Given the description of an element on the screen output the (x, y) to click on. 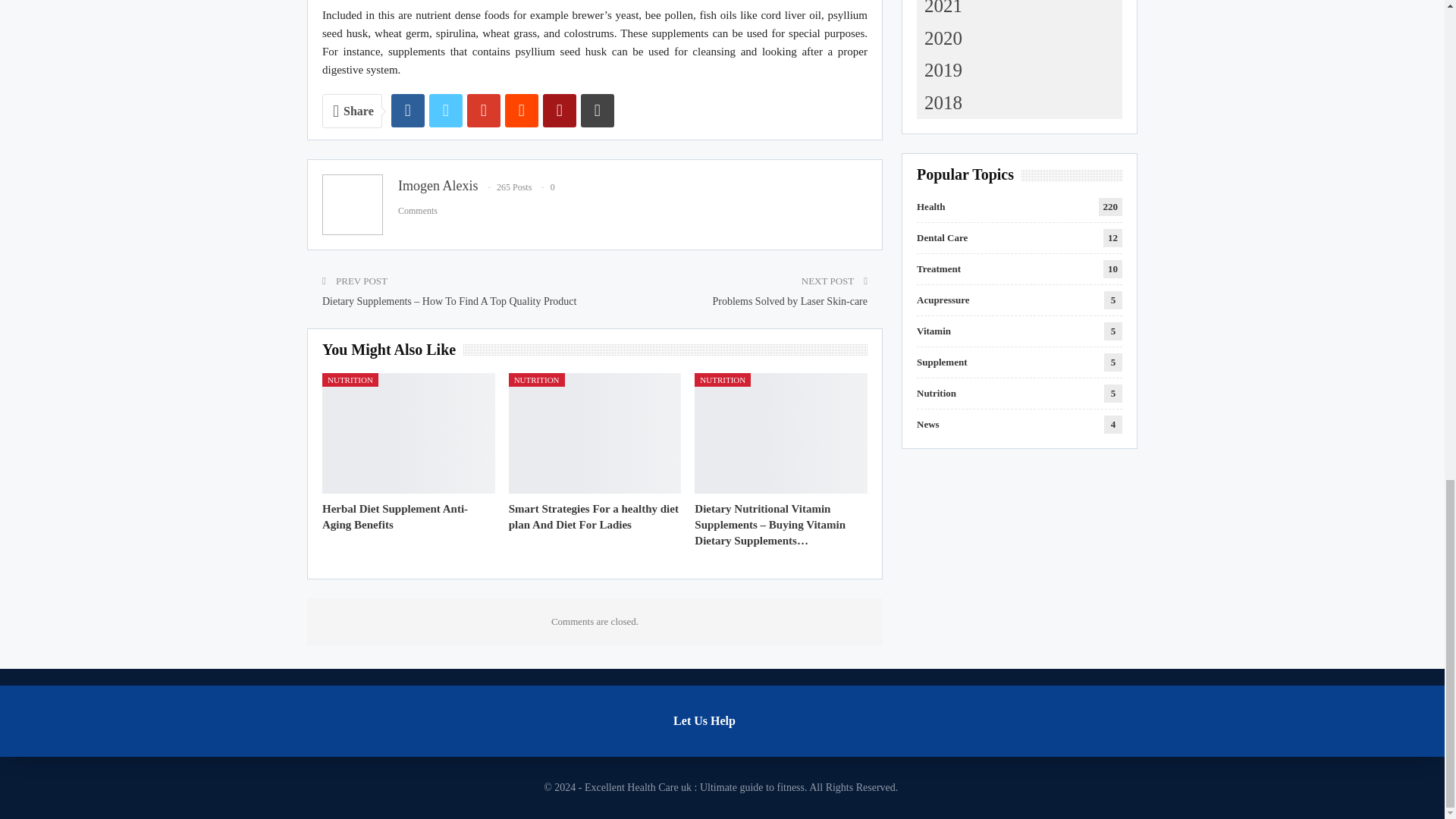
You Might Also Like (392, 350)
Herbal Diet Supplement Anti-Aging Benefits (394, 516)
Smart Strategies For a healthy diet plan And Diet For Ladies (594, 433)
Imogen Alexis (438, 185)
Herbal Diet Supplement Anti-Aging Benefits (394, 516)
NUTRITION (536, 379)
Smart Strategies For a healthy diet plan And Diet For Ladies (593, 516)
Problems Solved by Laser Skin-care (789, 301)
NUTRITION (349, 379)
Herbal Diet Supplement Anti-Aging Benefits (408, 433)
